Given the description of an element on the screen output the (x, y) to click on. 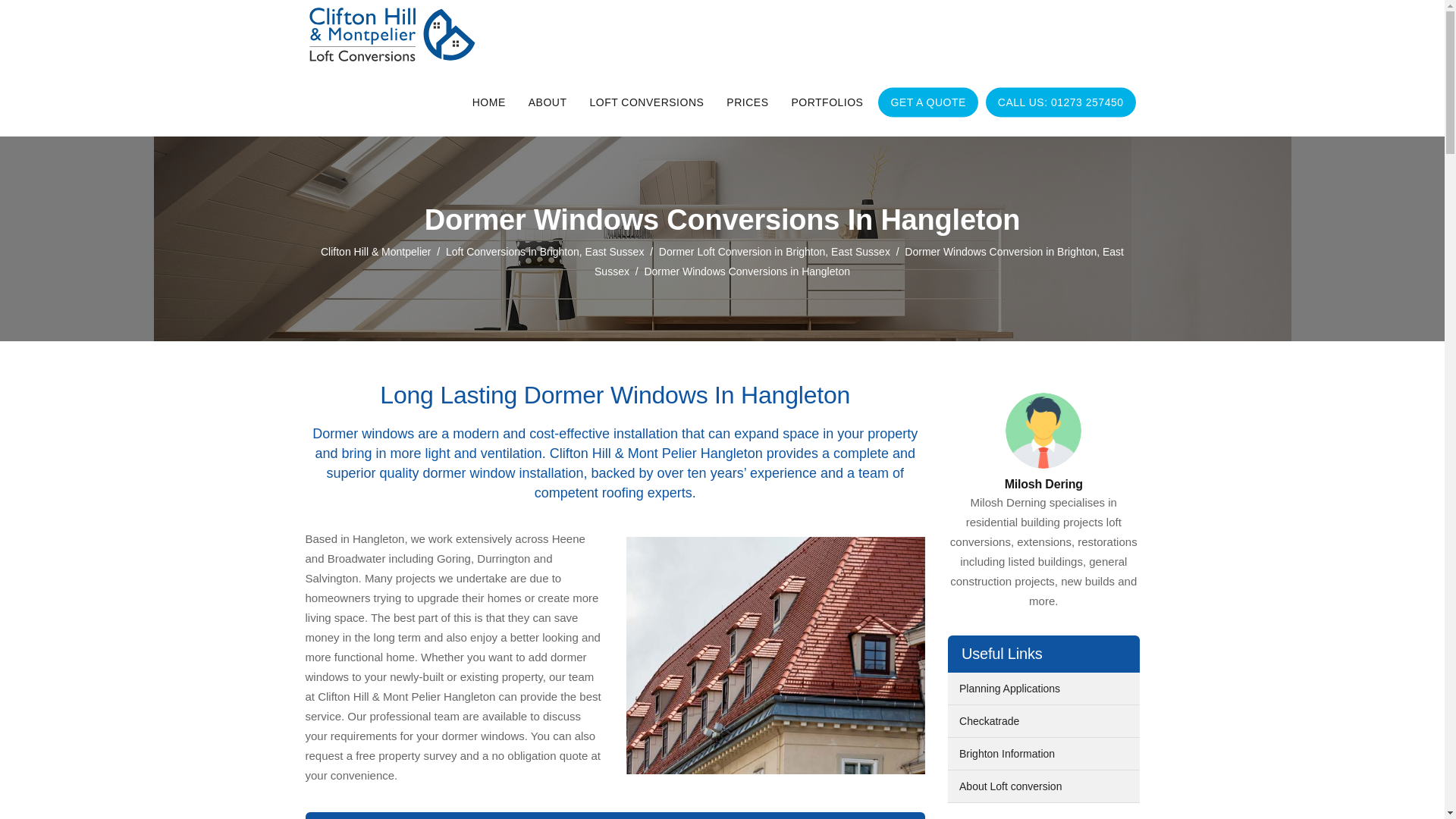
GET A QUOTE (928, 101)
ABOUT (547, 101)
LOFT CONVERSIONS (646, 101)
PORTFOLIOS (826, 101)
CALL US: 01273 257450 (1060, 101)
Dormer Loft Conversion in Brighton, East Sussex (774, 251)
PRICES (746, 101)
Dormer Windows Conversion in Brighton, East Sussex (859, 261)
Loft Conversions in Brighton, East Sussex (544, 251)
